Given the description of an element on the screen output the (x, y) to click on. 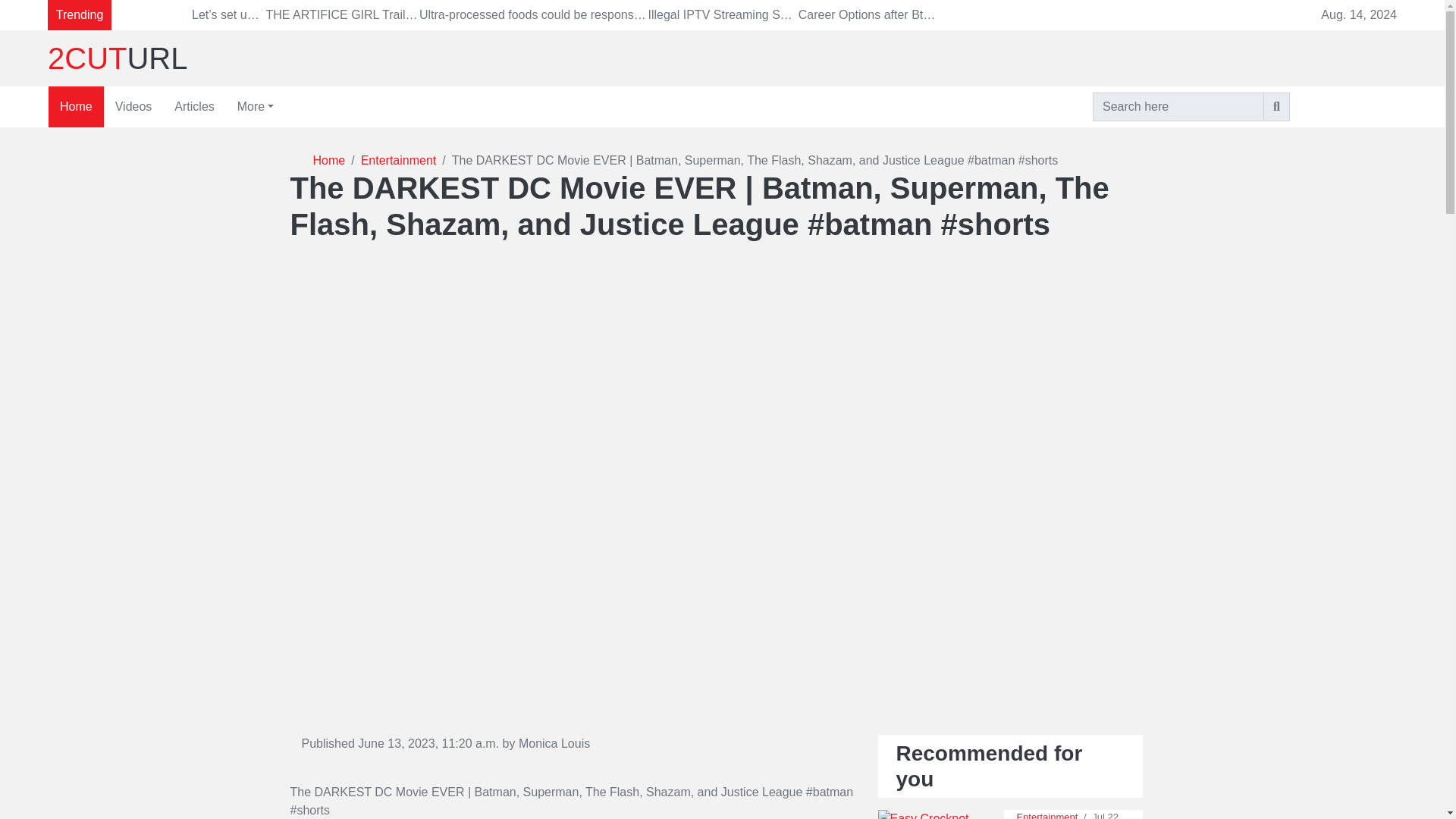
Home (75, 106)
Articles (194, 106)
Entertainment (390, 160)
Entertainment (1046, 815)
Search (1276, 106)
Videos (133, 106)
Illegal IPTV Streaming Services - How To Know the Difference (814, 14)
More (255, 106)
2CUTURL (259, 58)
Home (329, 160)
